Given the description of an element on the screen output the (x, y) to click on. 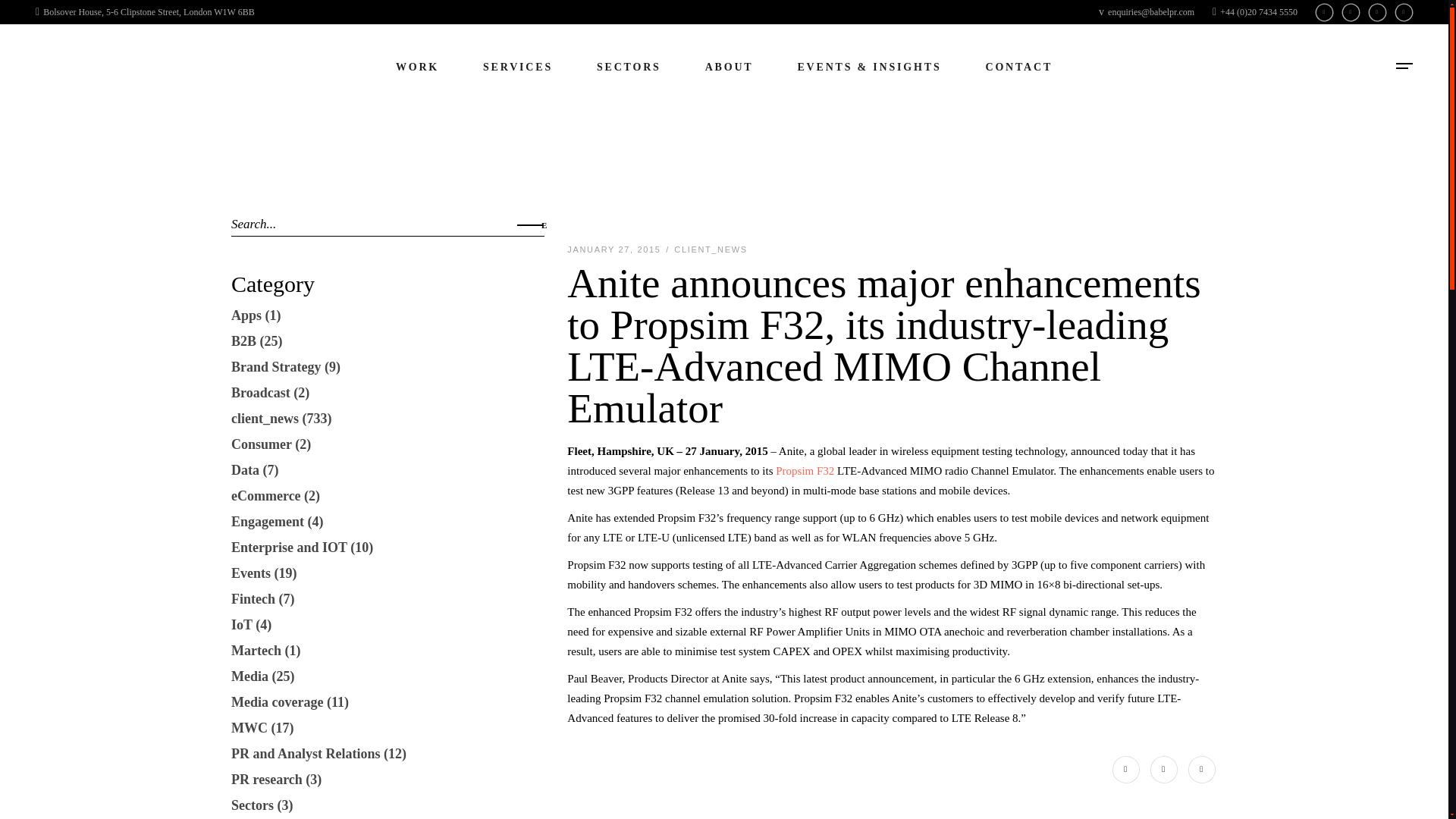
Bolsover House, 5-6 Clipstone Street, London W1W 6BB (144, 11)
